Given the description of an element on the screen output the (x, y) to click on. 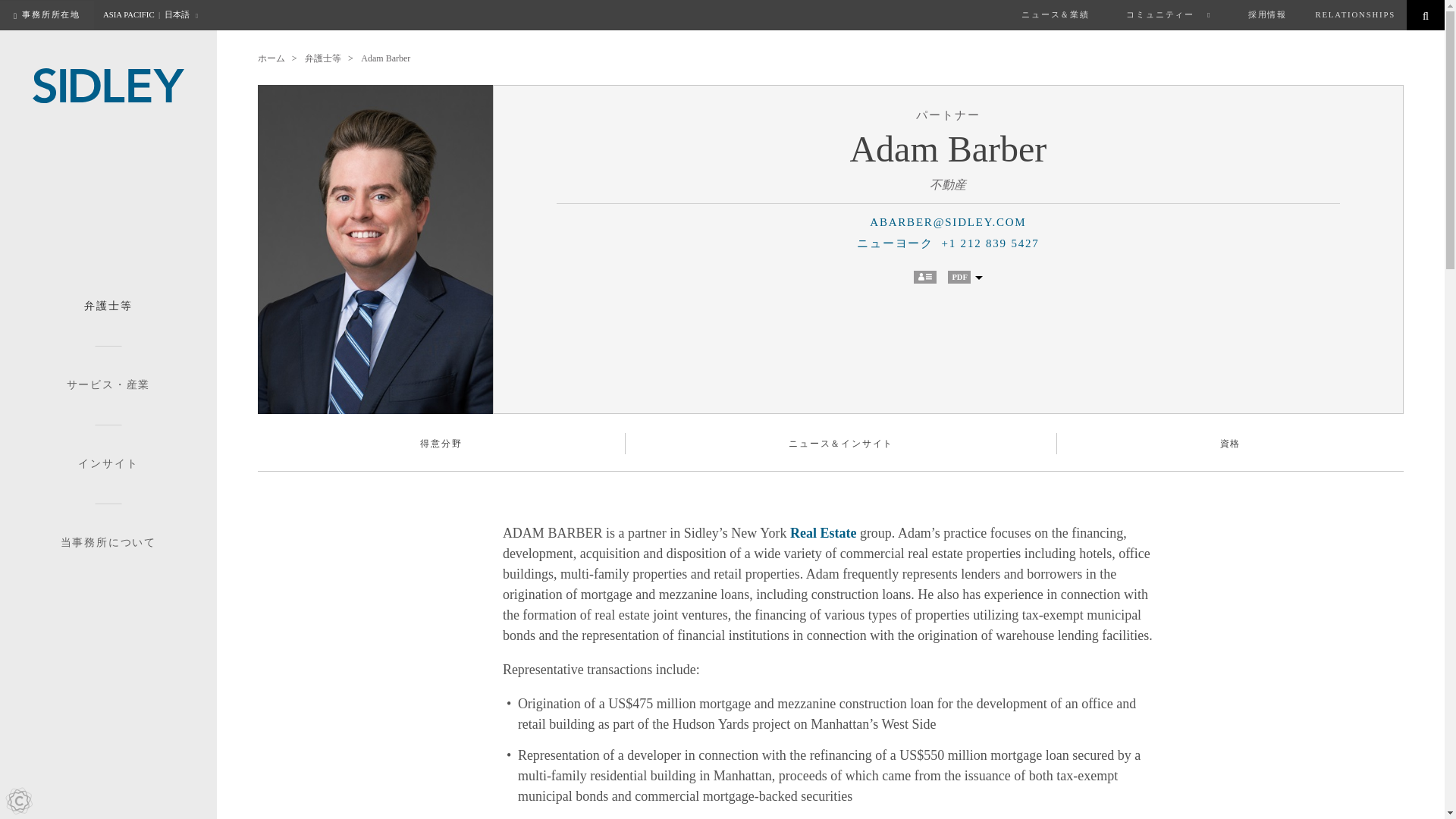
RELATIONSHIPS (1355, 15)
Real Estate (823, 532)
